Given the description of an element on the screen output the (x, y) to click on. 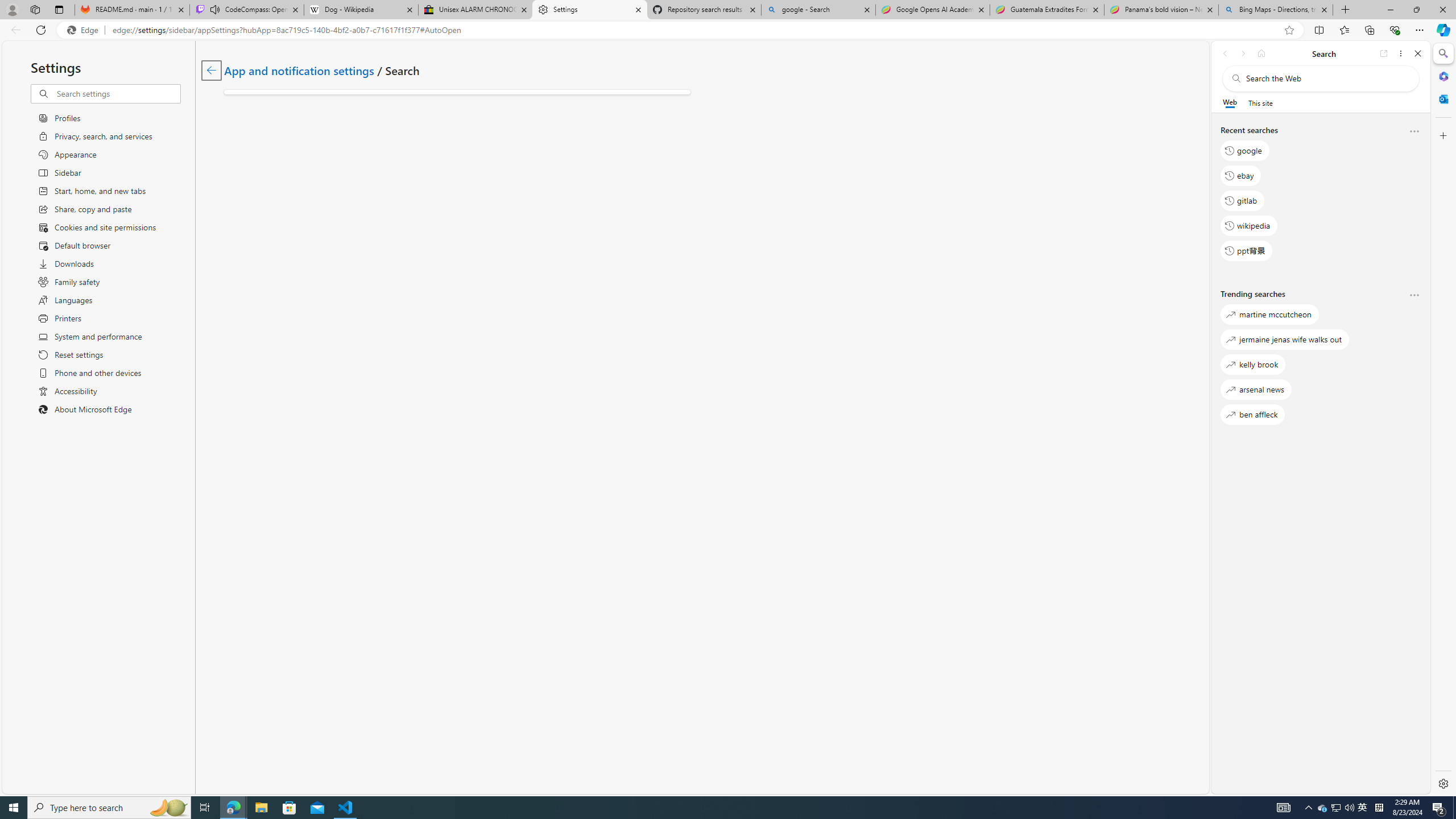
google (1244, 150)
Class: c01177 (210, 70)
martine mccutcheon (1269, 314)
ben affleck (1252, 414)
gitlab (1242, 200)
jermaine jenas wife walks out (1284, 339)
Search settings (117, 93)
